Given the description of an element on the screen output the (x, y) to click on. 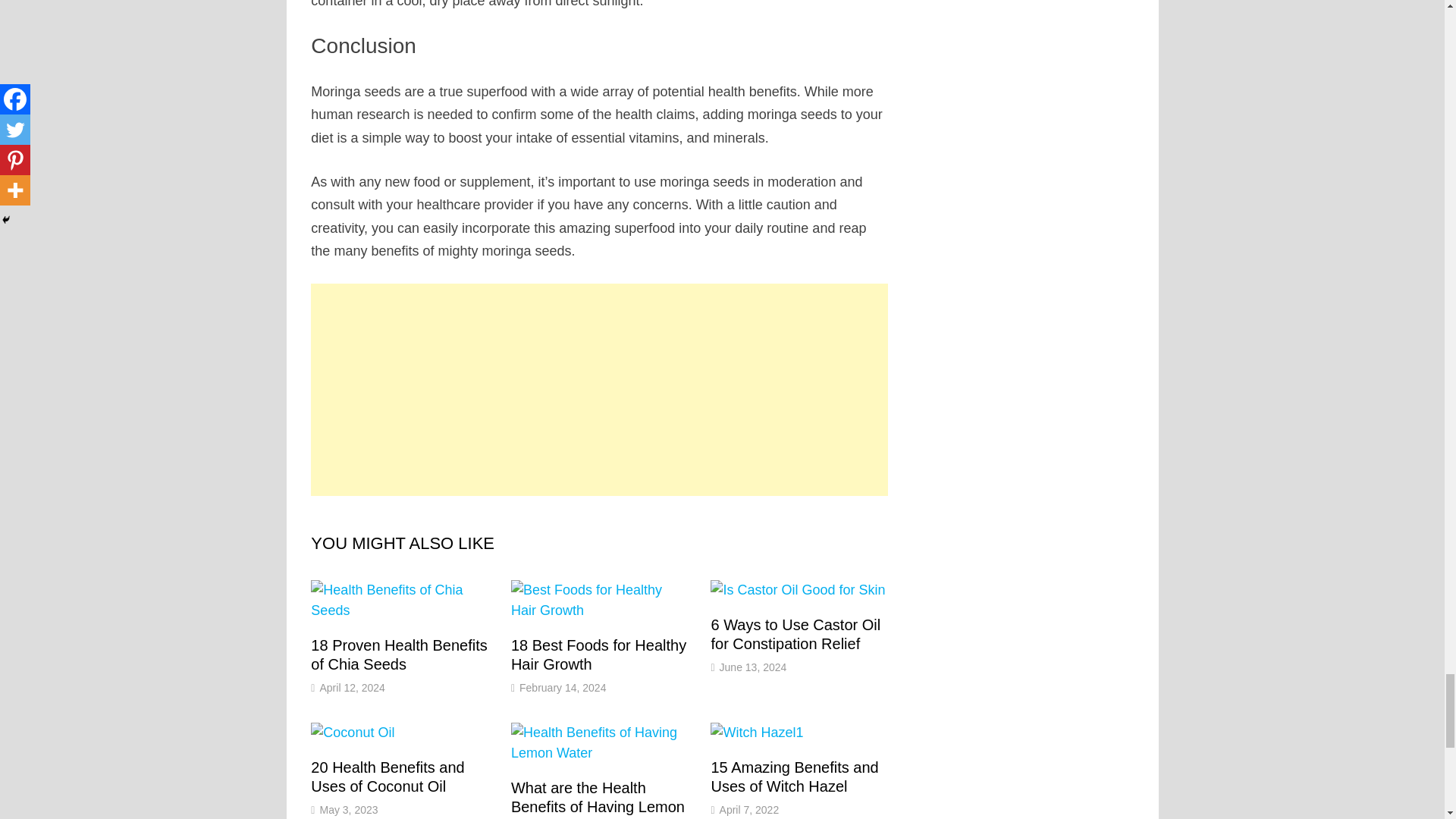
What are the Health Benefits of Having Lemon Water (597, 799)
18 Proven Health Benefits of Chia Seeds (398, 654)
6 Ways to Use Castor Oil for Constipation Relief (795, 633)
May 3, 2023 (347, 809)
15 Amazing Benefits and Uses of Witch Hazel (793, 776)
18 Best Foods for Healthy Hair Growth (598, 654)
15 Amazing Benefits and Uses of Witch Hazel (793, 776)
18 Best Foods for Healthy Hair Growth (598, 654)
What are the Health Benefits of Having Lemon Water (597, 799)
June 13, 2024 (753, 666)
April 12, 2024 (351, 687)
20 Health Benefits and Uses of Coconut Oil (387, 776)
6 Ways to Use Castor Oil for Constipation Relief (795, 633)
18 Proven Health Benefits of Chia Seeds (398, 654)
February 14, 2024 (562, 687)
